Given the description of an element on the screen output the (x, y) to click on. 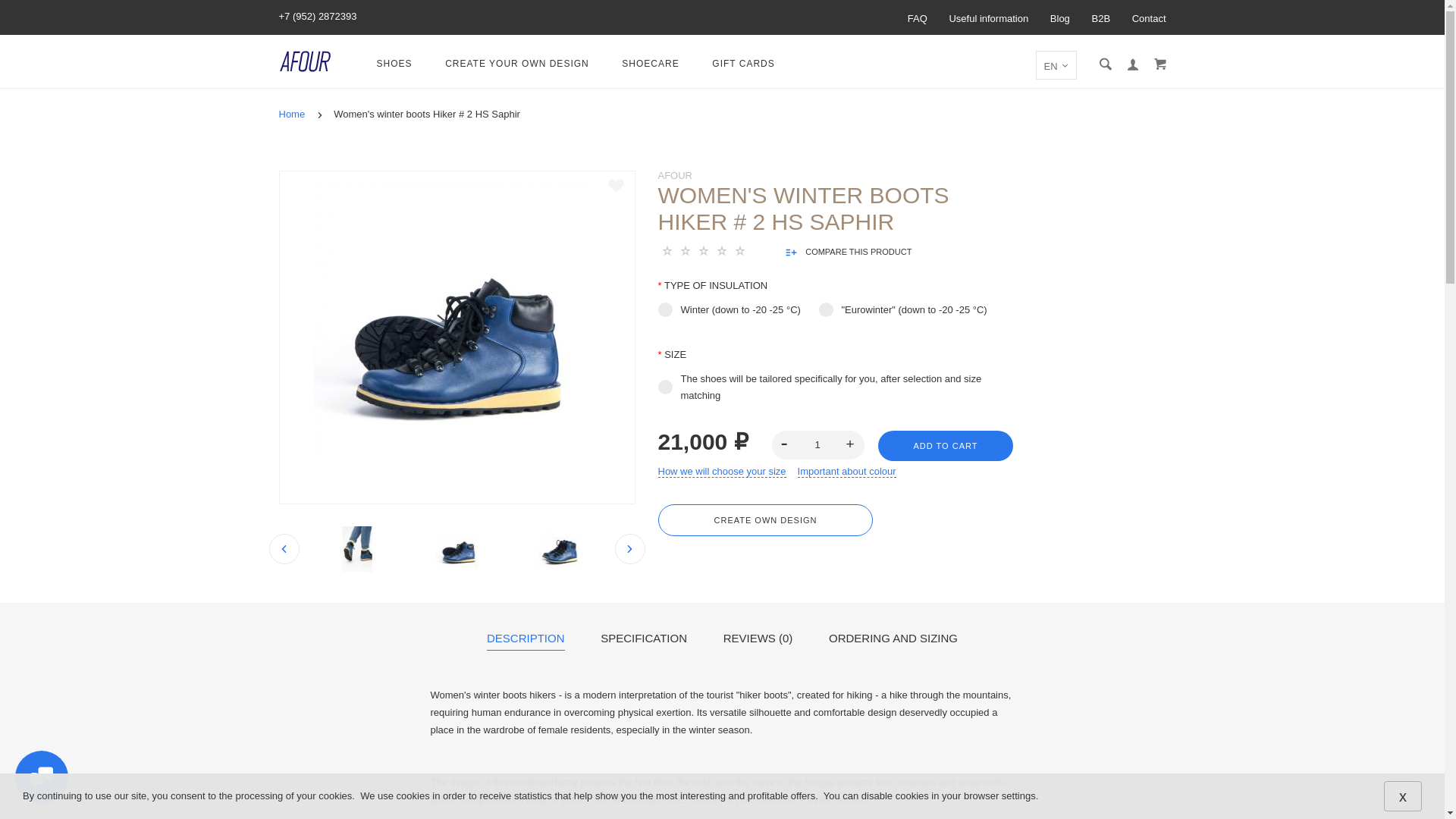
Add to Wish List (616, 185)
1 (817, 444)
GIFT CARDS (742, 63)
Blog (1059, 19)
SHOES (393, 63)
Contact (1149, 19)
SHOECARE (649, 63)
B2B (1099, 19)
AFOUR Custom Footwear (305, 61)
Useful information (988, 19)
FAQ (917, 19)
CREATE YOUR OWN DESIGN (517, 63)
